Given the description of an element on the screen output the (x, y) to click on. 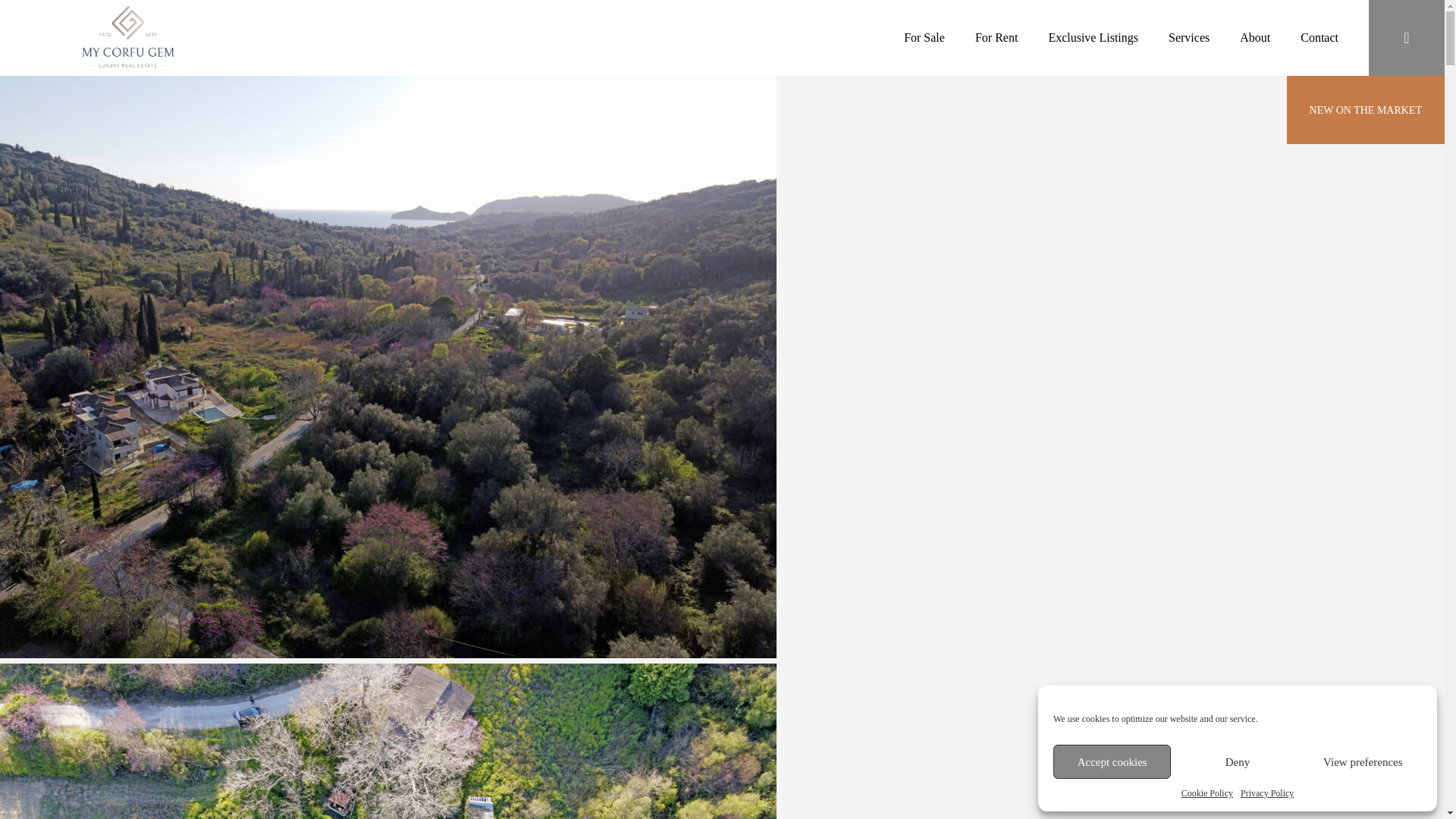
For Rent (996, 37)
Services (1189, 37)
Accept cookies (1111, 761)
Cookie Policy (1206, 793)
Deny (1236, 761)
Contact (1319, 37)
Exclusive Listings (1093, 37)
Privacy Policy (1267, 793)
For Sale (924, 37)
View preferences (1363, 761)
About (1254, 37)
